Given the description of an element on the screen output the (x, y) to click on. 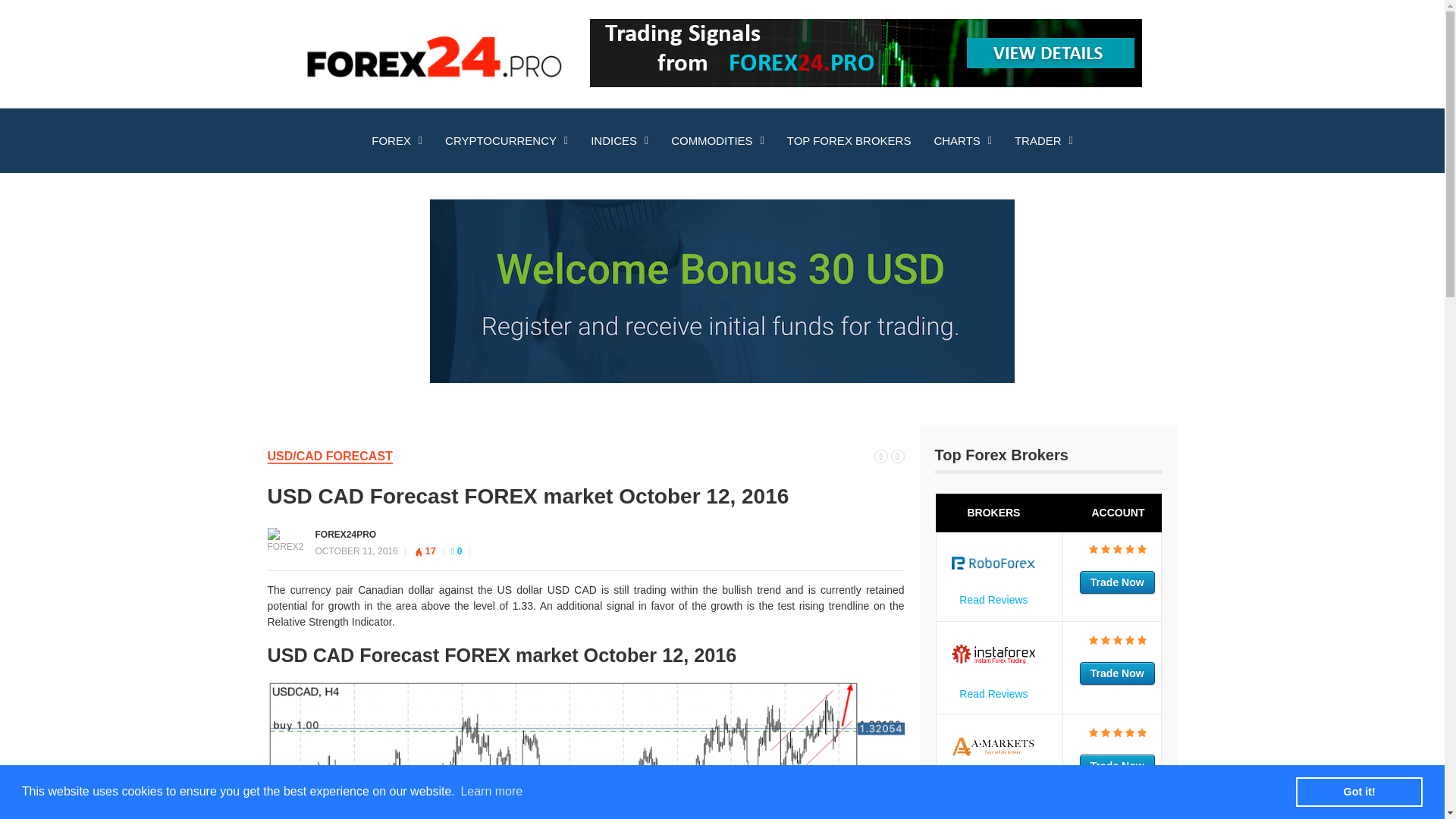
INDICES (619, 140)
TOP FOREX BROKERS (849, 140)
Learn more (491, 791)
FOREX (396, 140)
COMMODITIES (717, 140)
CRYPTOCURRENCY (506, 140)
CHARTS (962, 140)
Got it! (1358, 791)
